Given the description of an element on the screen output the (x, y) to click on. 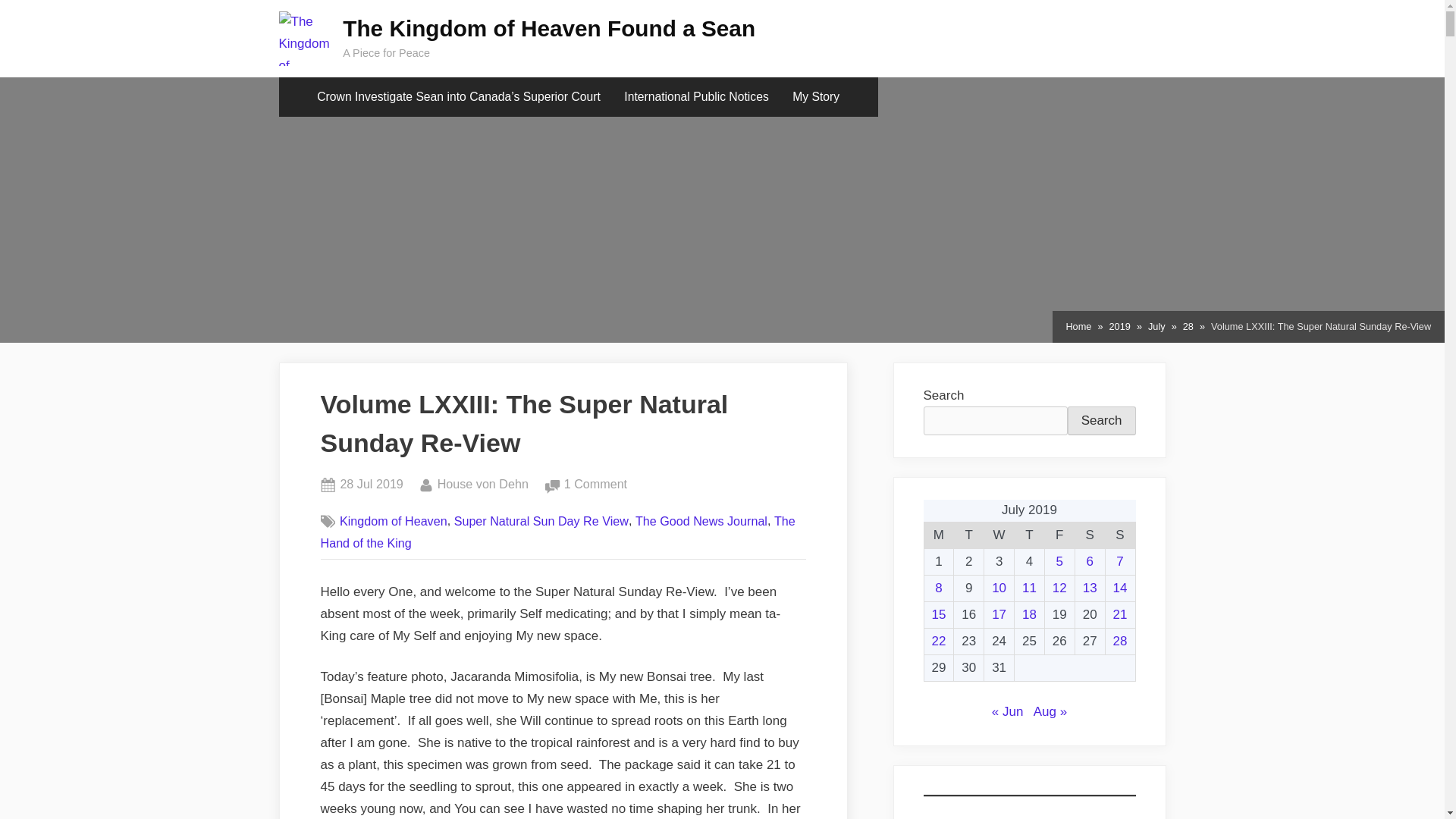
Saturday (1089, 535)
Thursday (1029, 535)
International Public Notices (595, 484)
My Story (483, 484)
Friday (695, 97)
Tuesday (815, 97)
Super Natural Sun Day Re View (1058, 535)
